Given the description of an element on the screen output the (x, y) to click on. 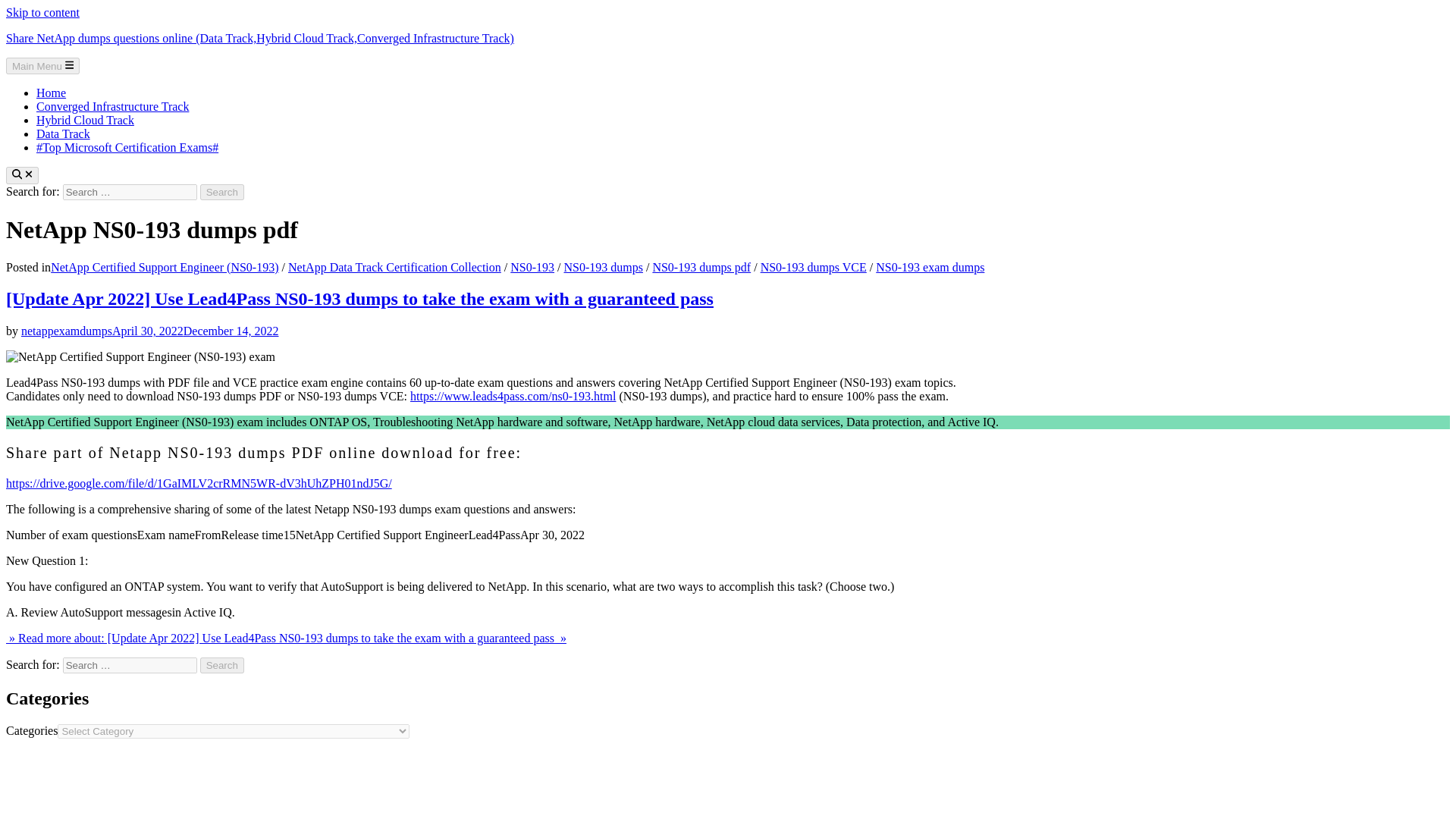
NS0-193 (532, 267)
Search (222, 191)
Main Menu (42, 65)
Search (222, 665)
Search (222, 665)
NS0-193 dumps VCE (813, 267)
Home (50, 92)
Data Track (63, 133)
Converged Infrastructure Track (112, 106)
April 30, 2022December 14, 2022 (195, 330)
Hybrid Cloud Track (84, 119)
netappexamdumps (66, 330)
NS0-193 exam dumps (930, 267)
Skip to content (42, 11)
NS0-193 dumps pdf (701, 267)
